Given the description of an element on the screen output the (x, y) to click on. 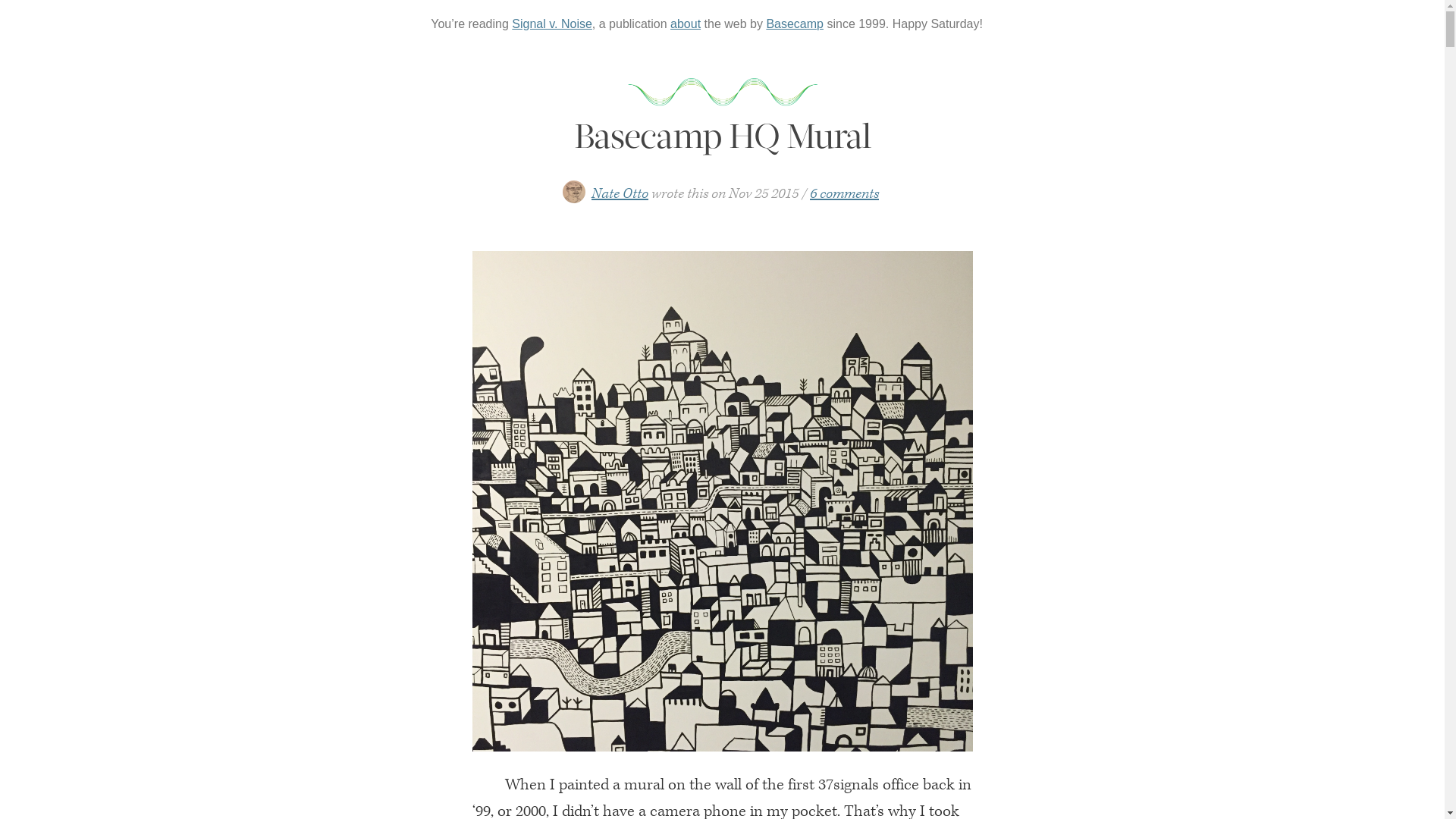
6 comments Element type: text (843, 193)
Signal v. Noise Element type: text (551, 23)
Nate Otto Element type: text (619, 193)
Basecamp HQ Mural Element type: text (722, 135)
Basecamp Element type: text (794, 23)
about Element type: text (685, 23)
